Given the description of an element on the screen output the (x, y) to click on. 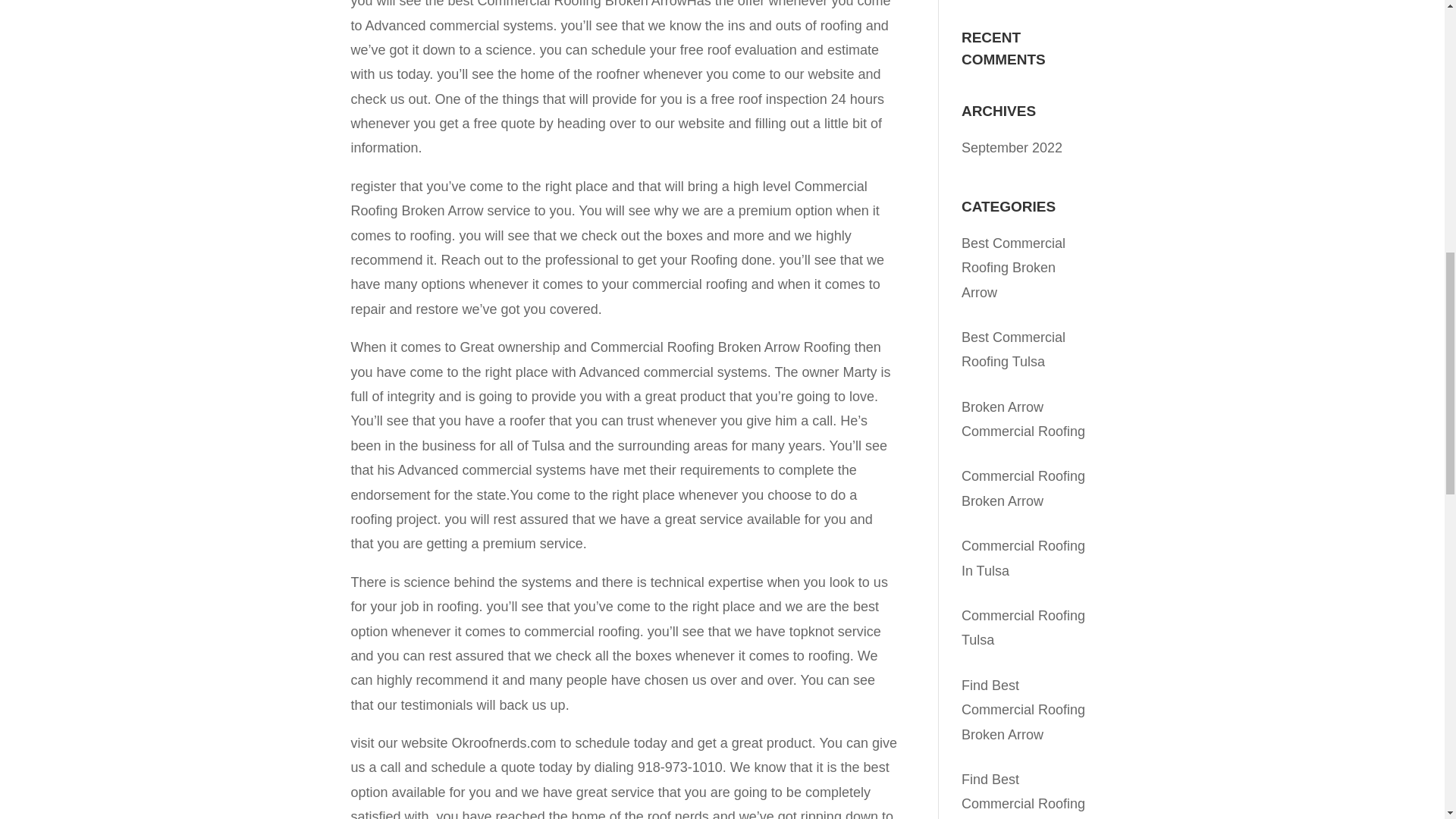
Find Best Commercial Roofing Broken Arrow (1022, 710)
Commercial Roofing Tulsa (1022, 627)
Broken Arrow Commercial Roofing (1022, 418)
Find Best Commercial Roofing Tulsa (1022, 795)
Best Commercial Roofing Broken Arrow (1012, 267)
Commercial Roofing Broken Arrow (1022, 487)
Commercial Roofing In Tulsa (1022, 558)
September 2022 (1011, 147)
Best Commercial Roofing Tulsa (1012, 349)
